Given the description of an element on the screen output the (x, y) to click on. 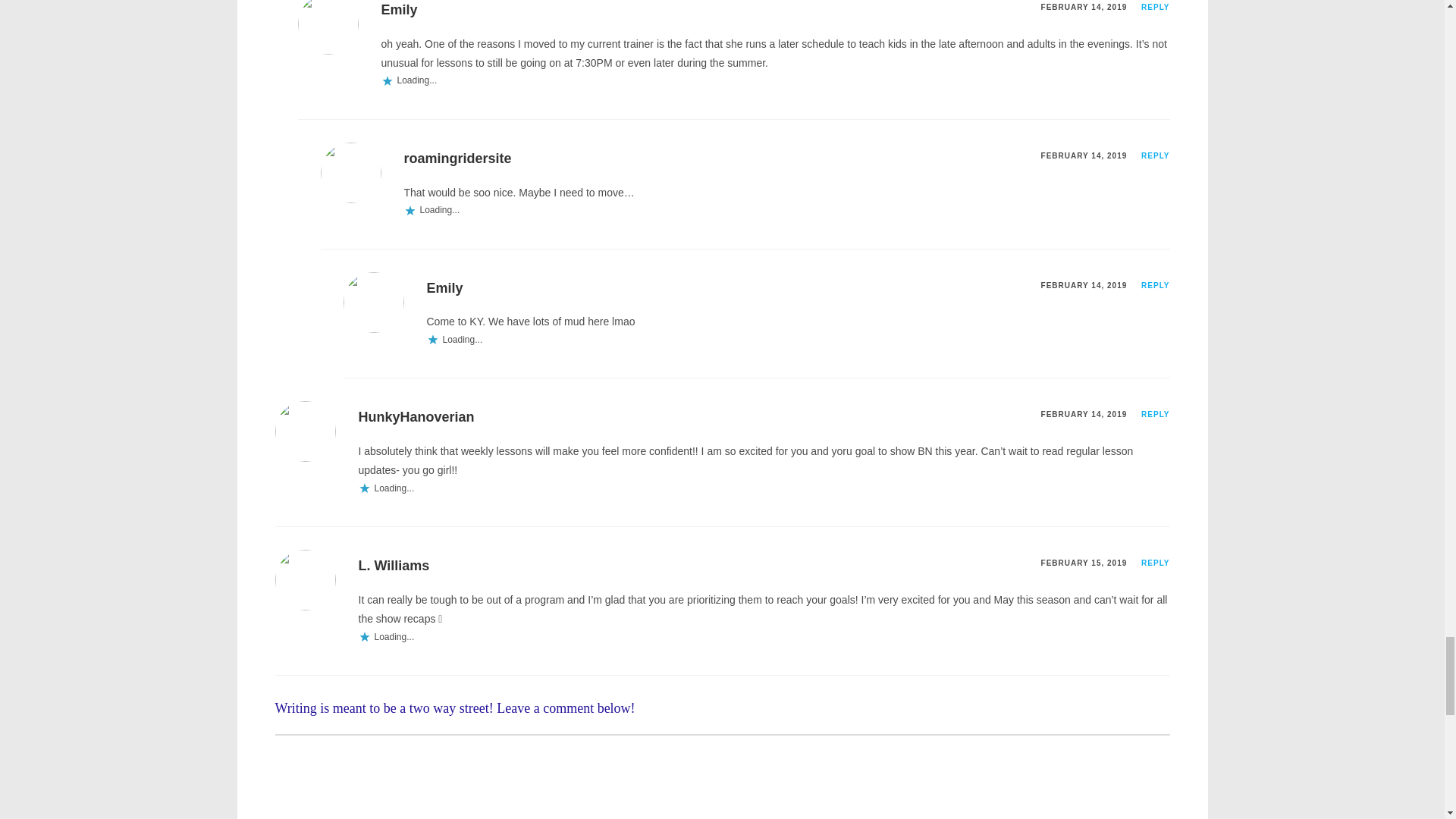
Comment Form (722, 776)
